Given the description of an element on the screen output the (x, y) to click on. 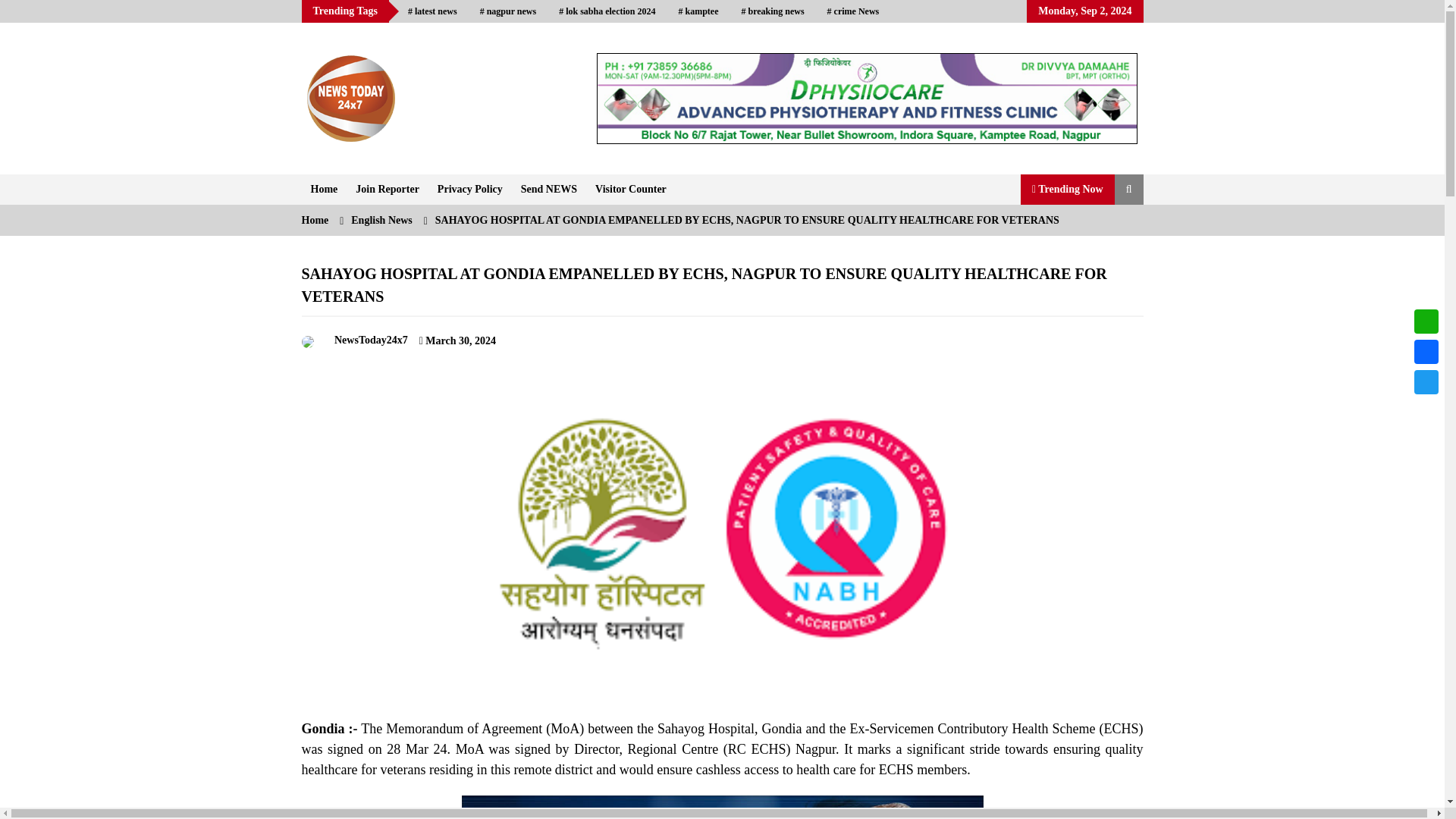
WhatsApp (1425, 321)
breaking news (772, 11)
crime News (853, 11)
Join Reporter (387, 189)
kamptee (697, 11)
Home (324, 189)
Privacy Policy (470, 189)
latest news (432, 11)
Visitor Counter (630, 189)
Send NEWS (549, 189)
